Given the description of an element on the screen output the (x, y) to click on. 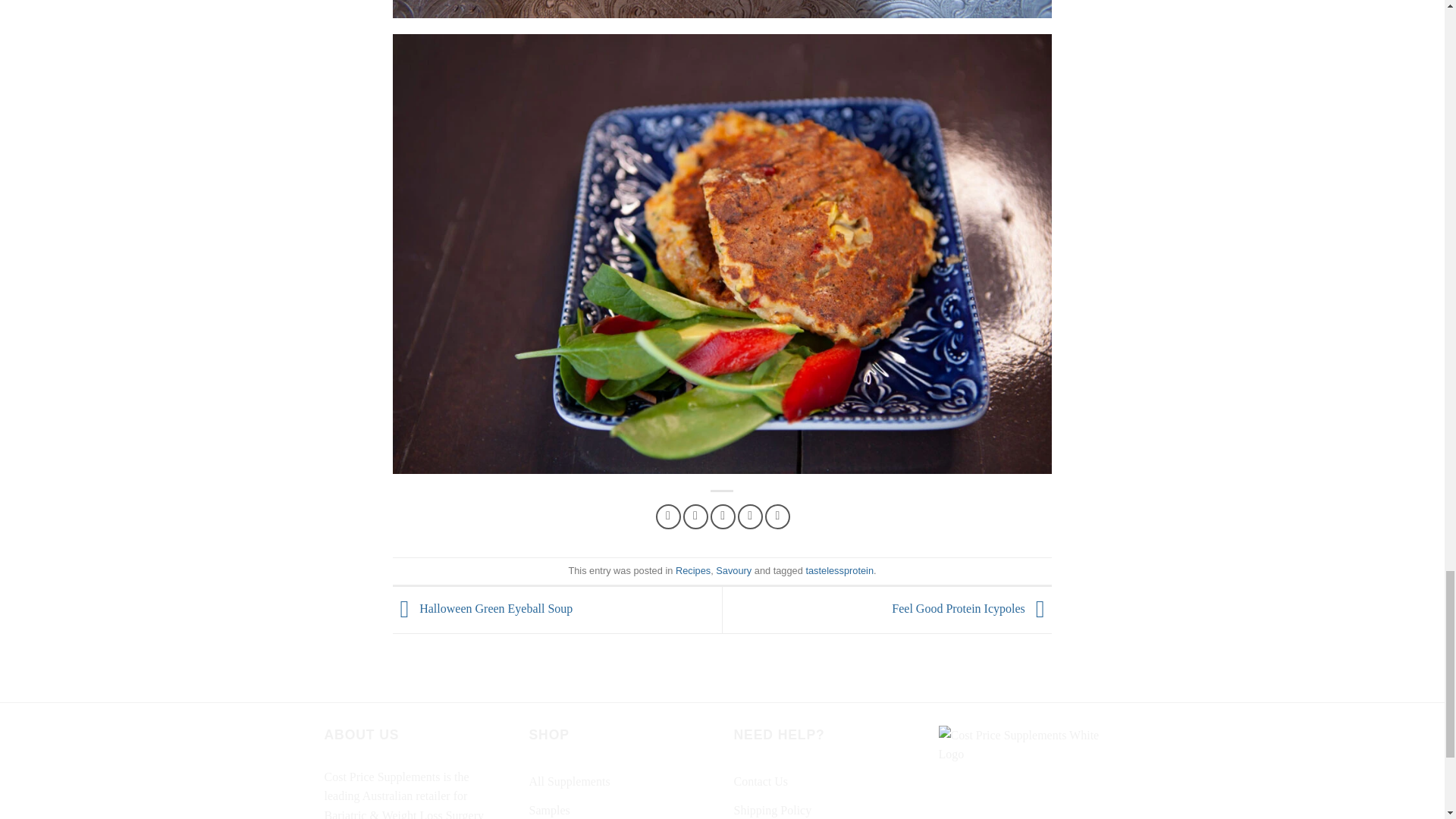
Share on Twitter (694, 516)
Pin on Pinterest (750, 516)
Email to a Friend (722, 516)
Share on Tumblr (777, 516)
Share on Facebook (668, 516)
